Given the description of an element on the screen output the (x, y) to click on. 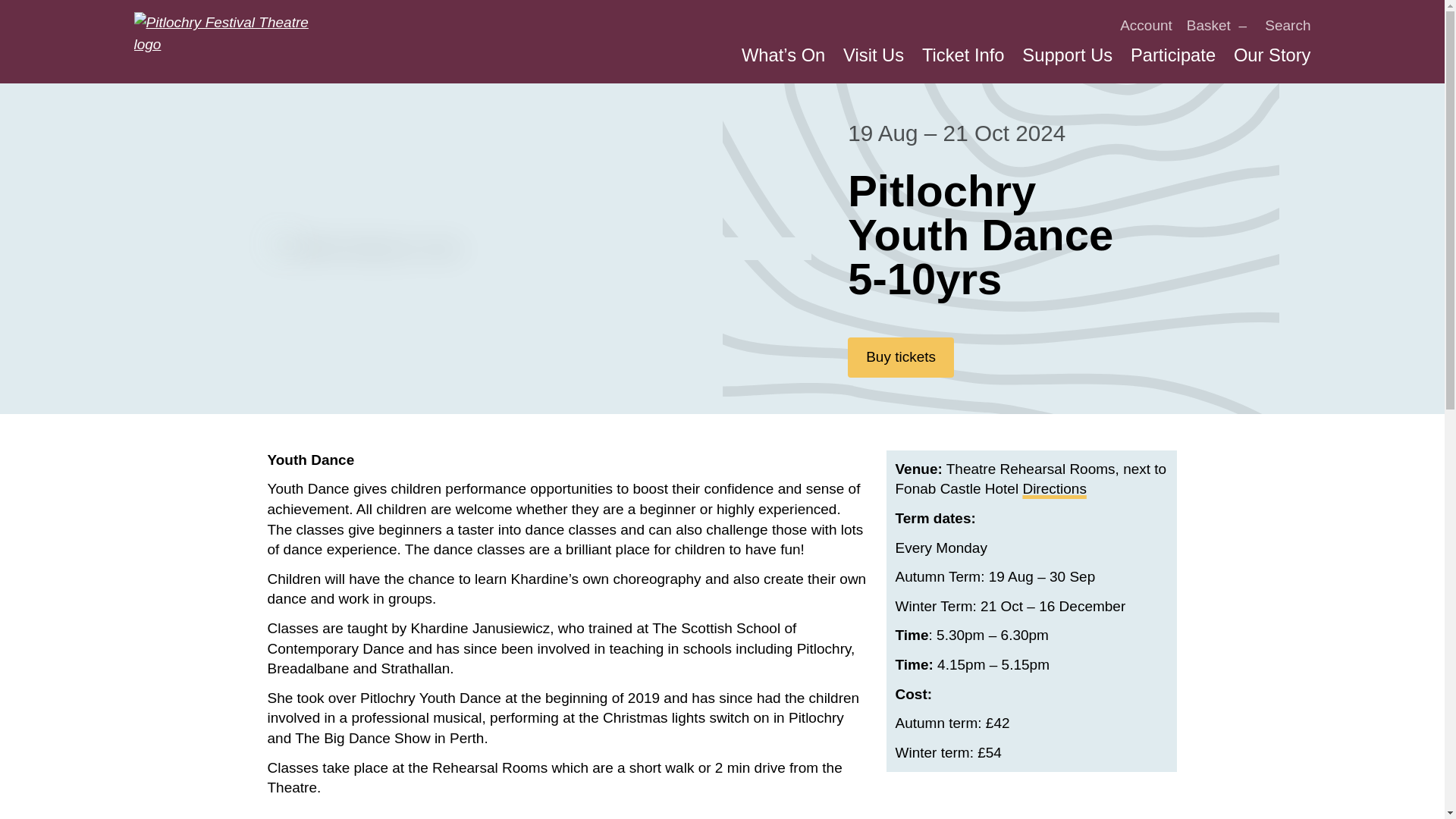
Search (1287, 25)
Youth Dance (369, 249)
Directions (1054, 488)
Account (1145, 25)
Visit Us (873, 55)
Support Us (1067, 55)
Ticket Info (962, 55)
Our Story (1272, 55)
Buy tickets (900, 357)
Participate (1173, 55)
